Given the description of an element on the screen output the (x, y) to click on. 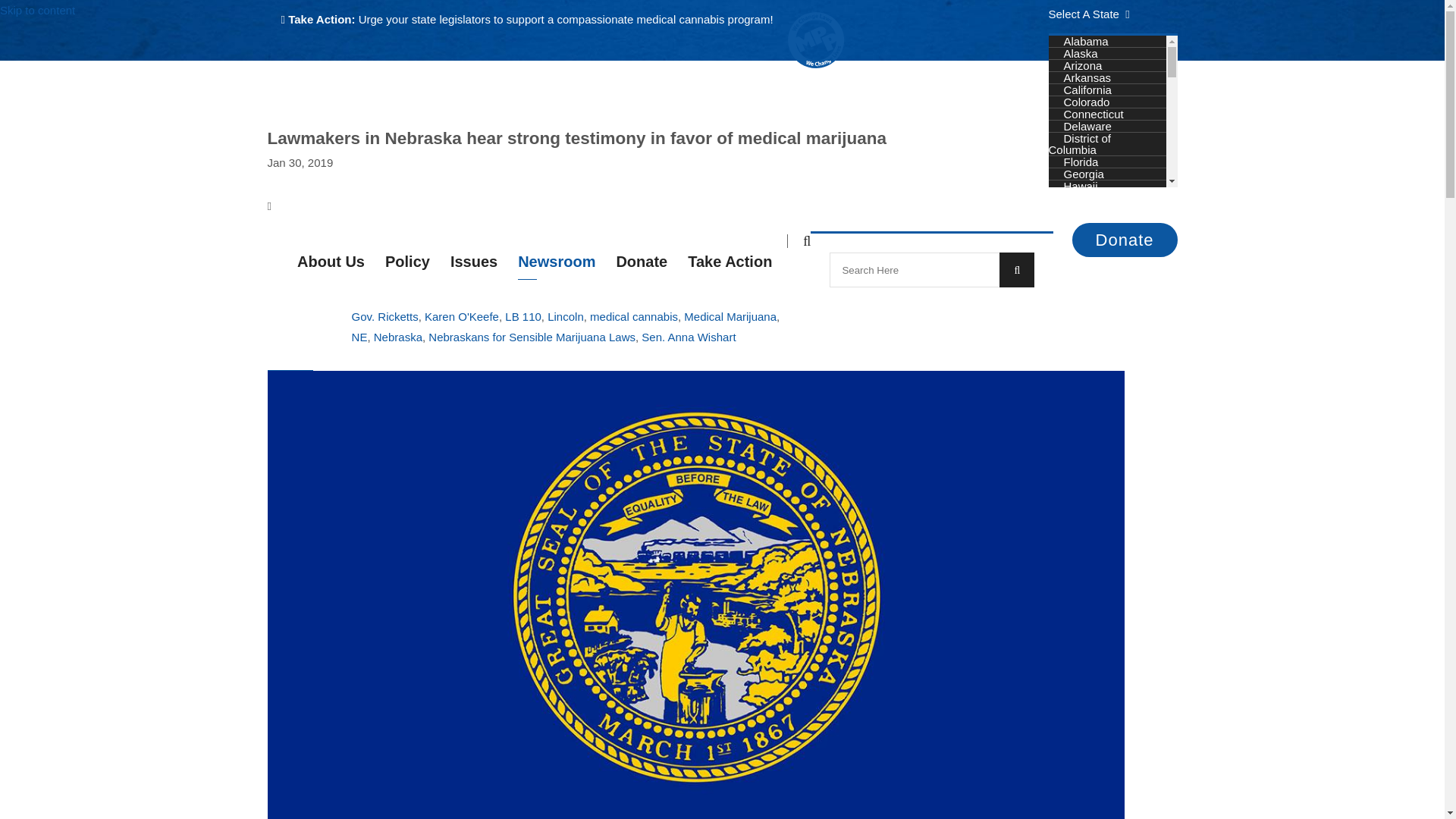
Minnesota (1089, 331)
Marijuana Policy Project (815, 64)
Oklahoma (1088, 489)
Michigan (1086, 319)
North Carolina (1099, 452)
Maine (1078, 283)
District of Columbia (1079, 143)
New Jersey (1092, 416)
Kentucky (1086, 258)
California (1086, 90)
Indiana (1081, 222)
Delaware (1086, 126)
Georgia (1083, 173)
Montana (1085, 367)
Idaho (1077, 198)
